Given the description of an element on the screen output the (x, y) to click on. 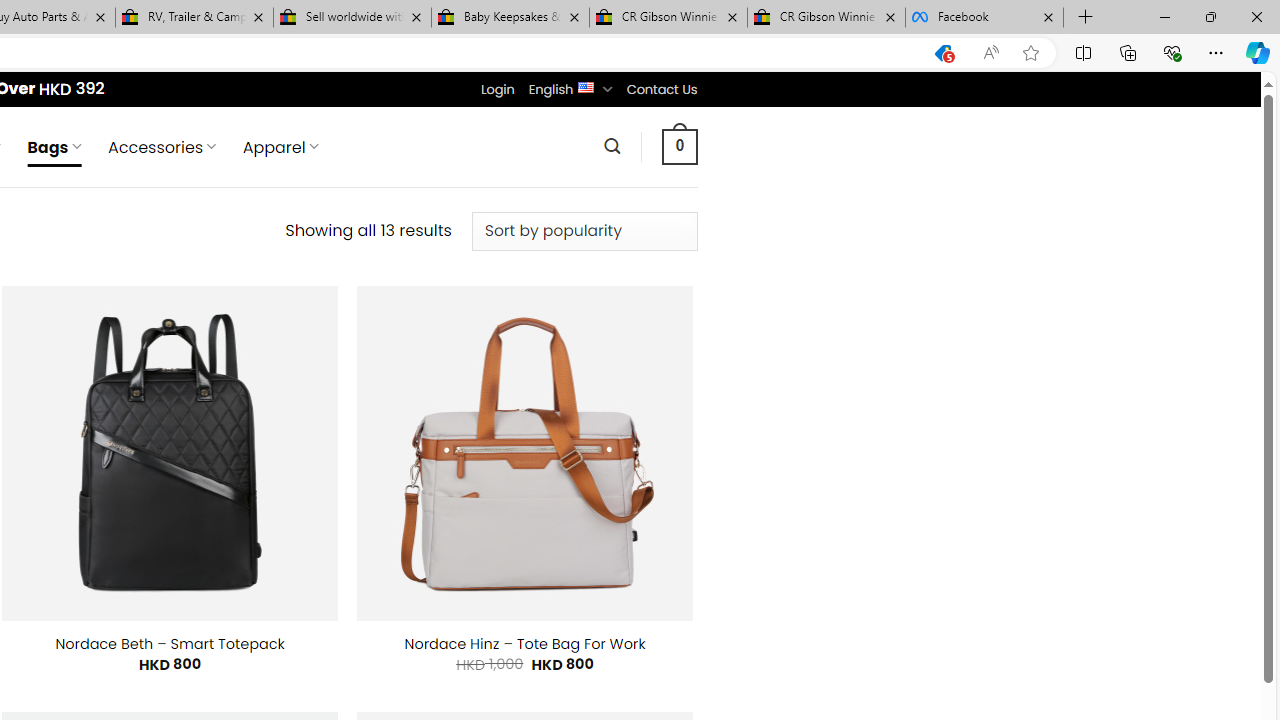
Contact Us (661, 89)
This site has coupons! Shopping in Microsoft Edge, 5 (943, 53)
  0   (679, 146)
English (586, 86)
Baby Keepsakes & Announcements for sale | eBay (509, 17)
